Given the description of an element on the screen output the (x, y) to click on. 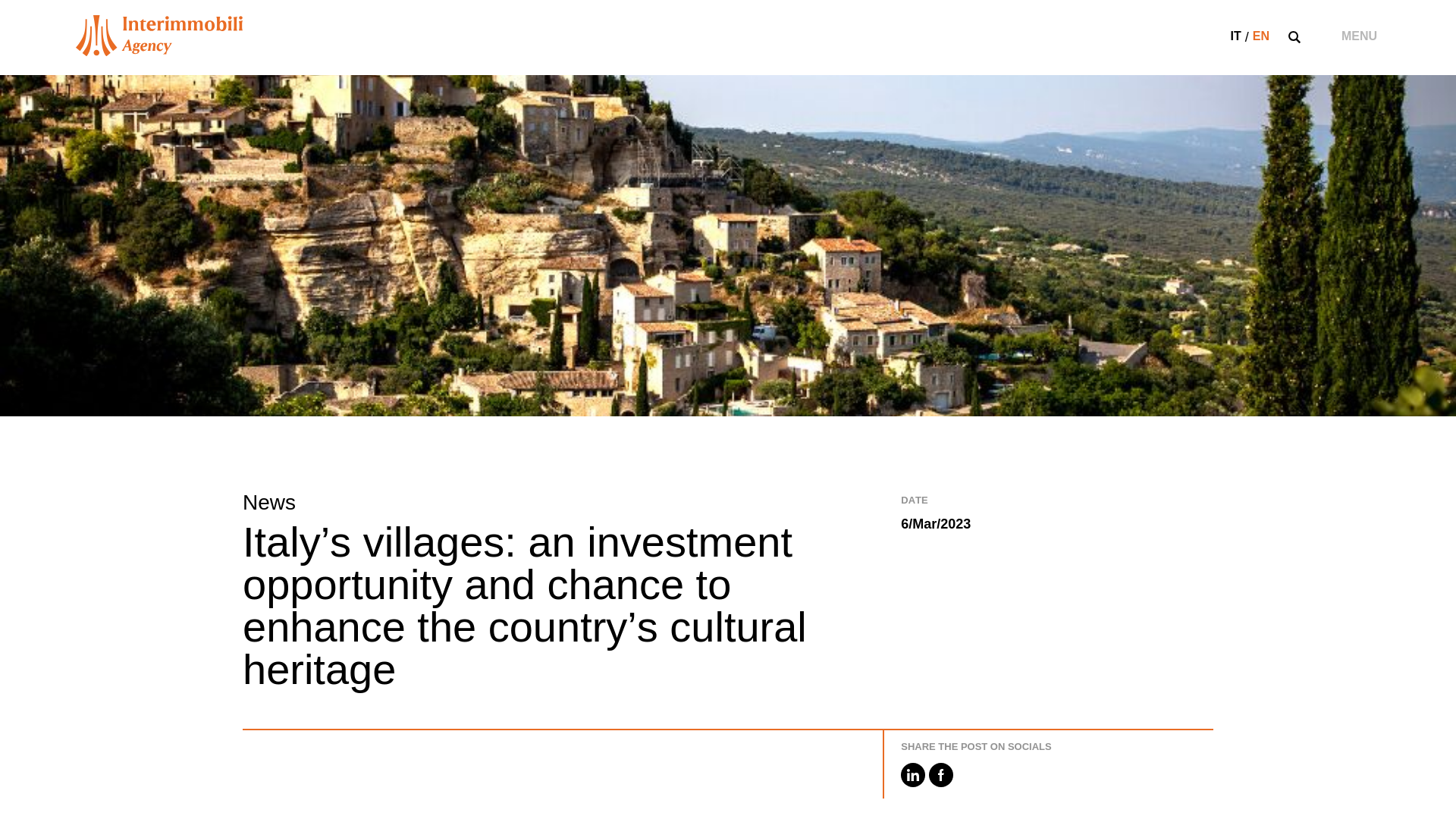
Cerca (1118, 409)
EN (1260, 35)
EN (1260, 36)
MENU (1359, 36)
